Given the description of an element on the screen output the (x, y) to click on. 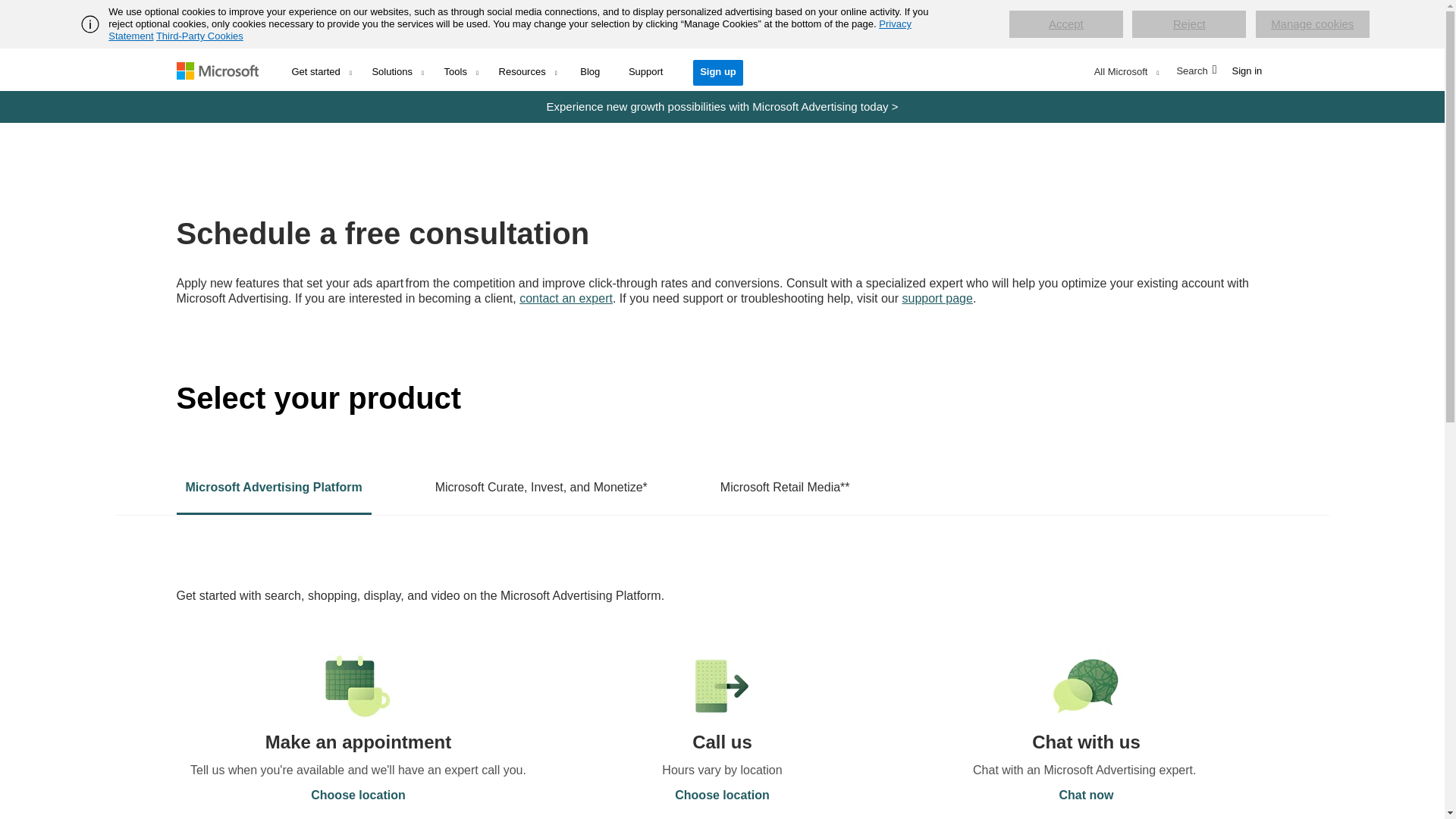
Get started (323, 68)
Manage cookies (1312, 23)
Accept (1065, 23)
Third-Party Cookies (199, 35)
Privacy Statement (509, 29)
Reject (1189, 23)
Microsoft (227, 69)
Solutions (398, 68)
Tools (461, 68)
